Given the description of an element on the screen output the (x, y) to click on. 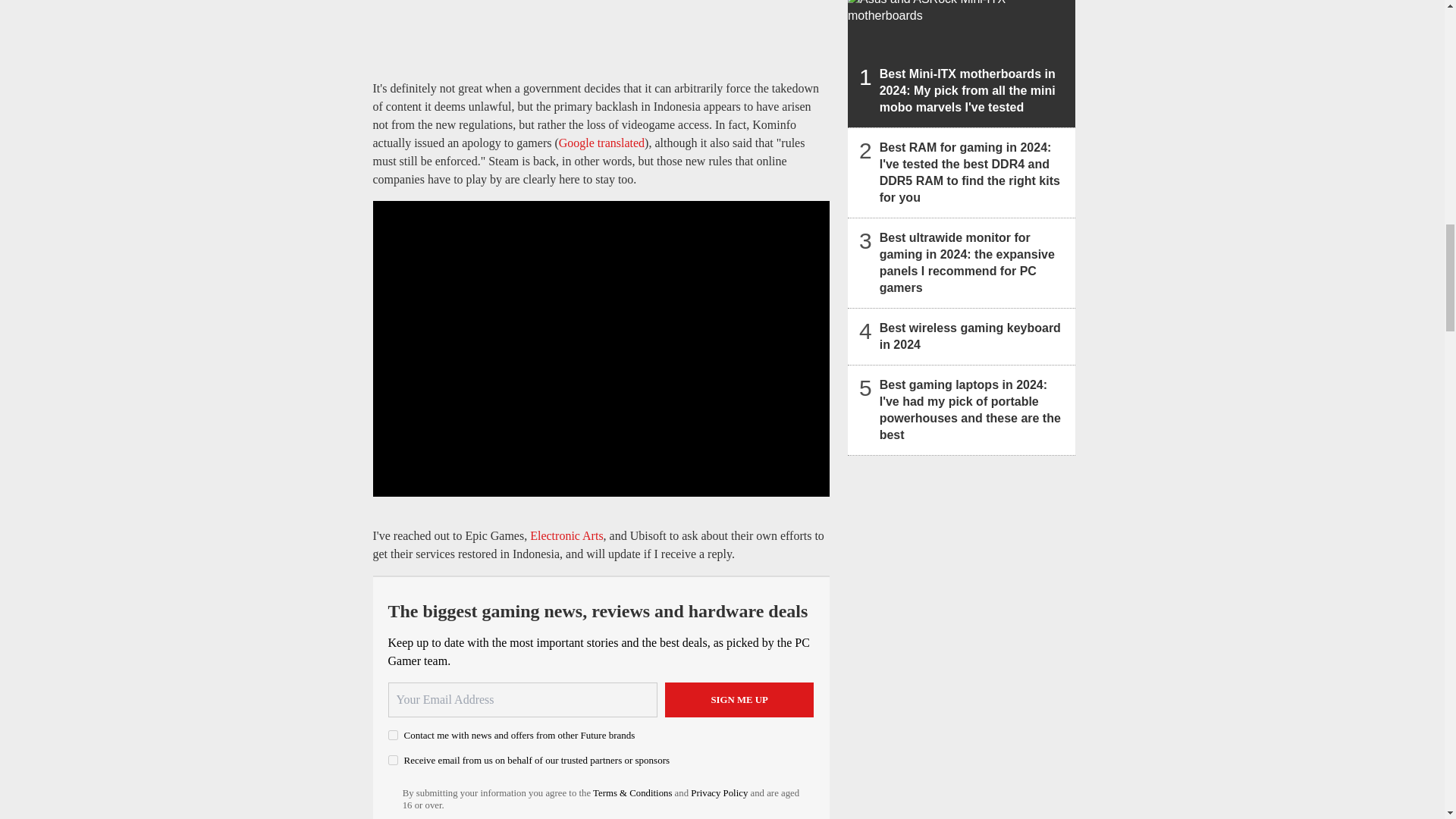
on (392, 759)
Sign me up (739, 699)
on (392, 735)
